Given the description of an element on the screen output the (x, y) to click on. 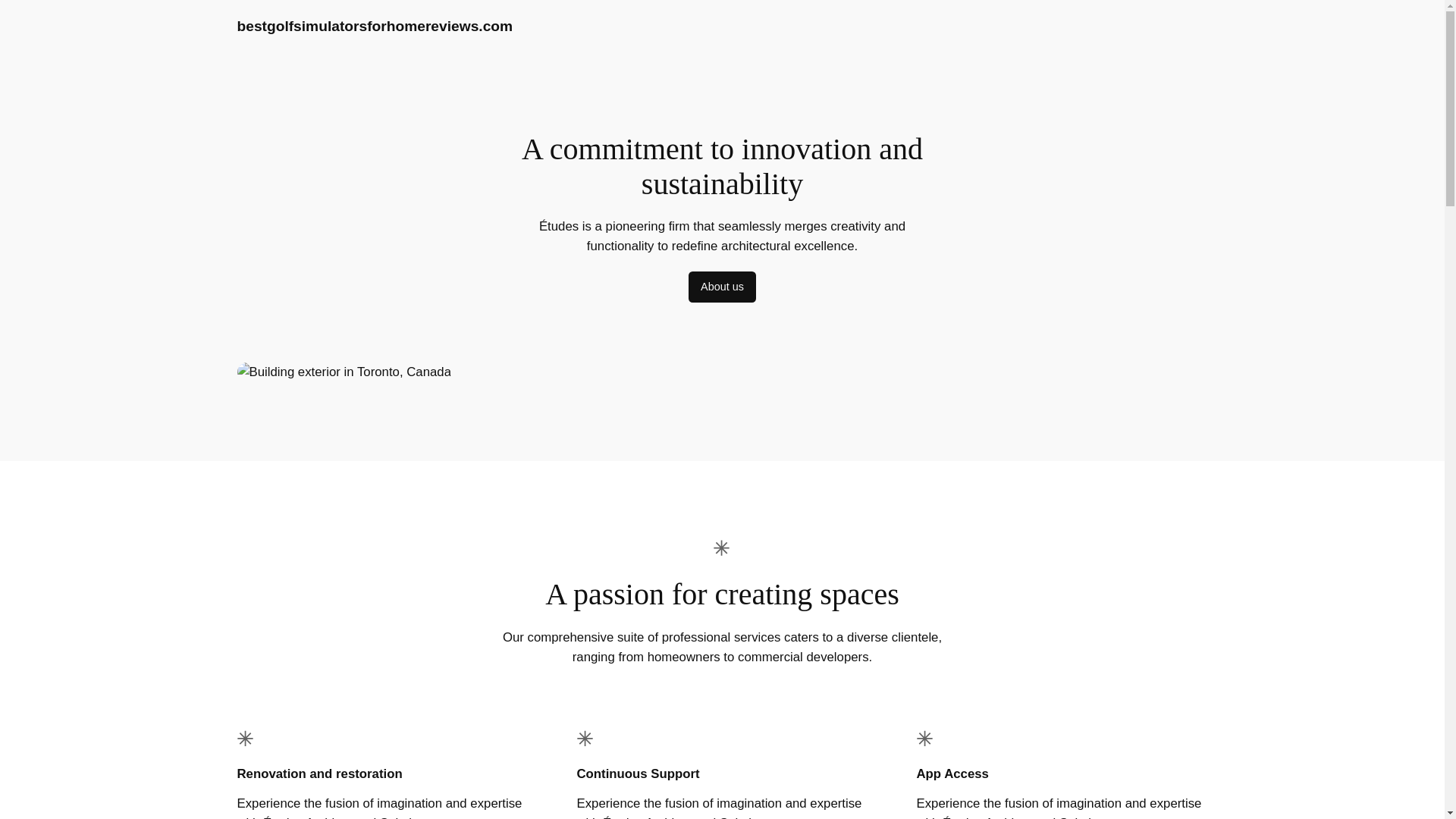
About us (721, 287)
bestgolfsimulatorsforhomereviews.com (373, 26)
